Given the description of an element on the screen output the (x, y) to click on. 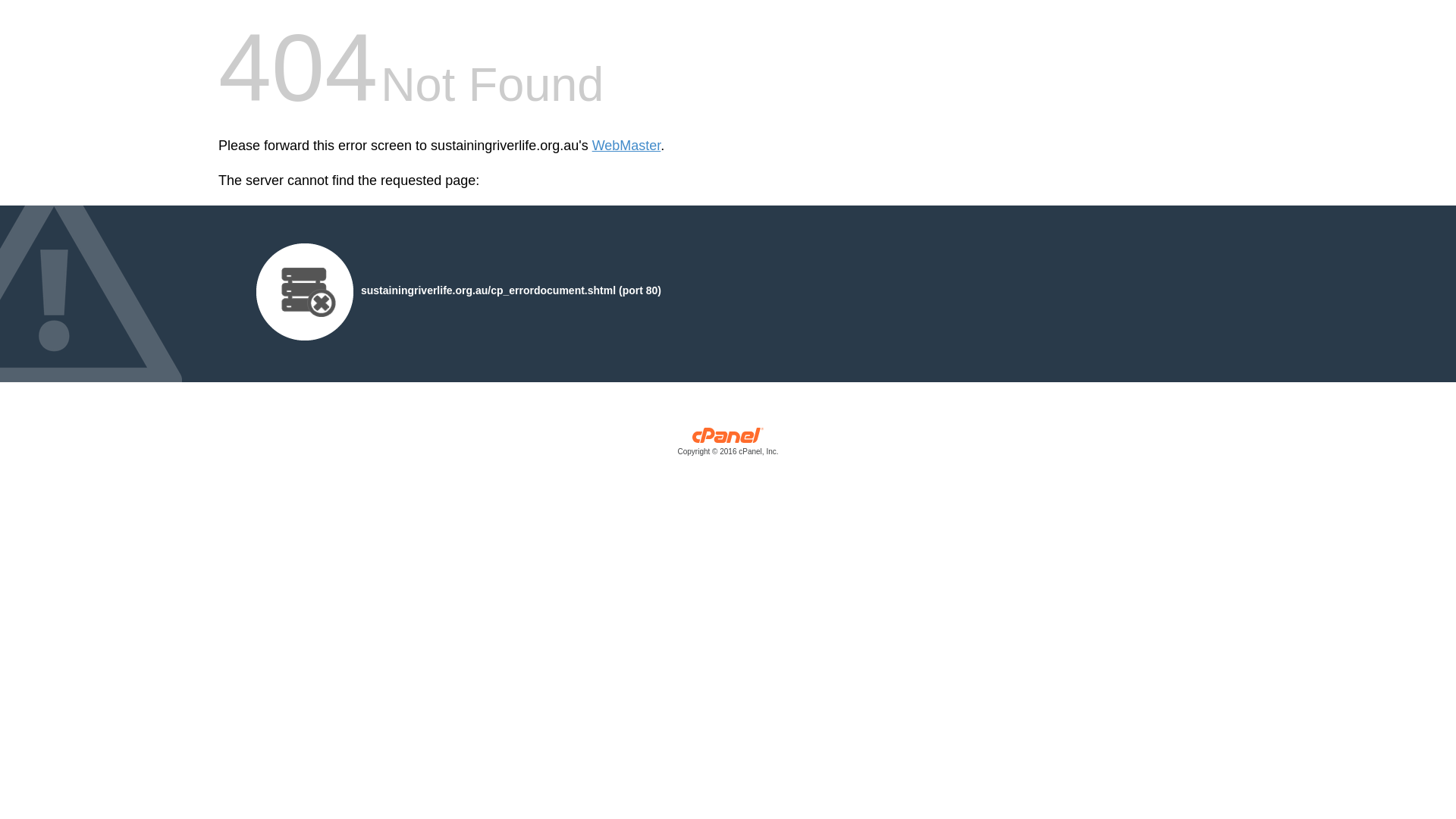
WebMaster Element type: text (626, 145)
